Given the description of an element on the screen output the (x, y) to click on. 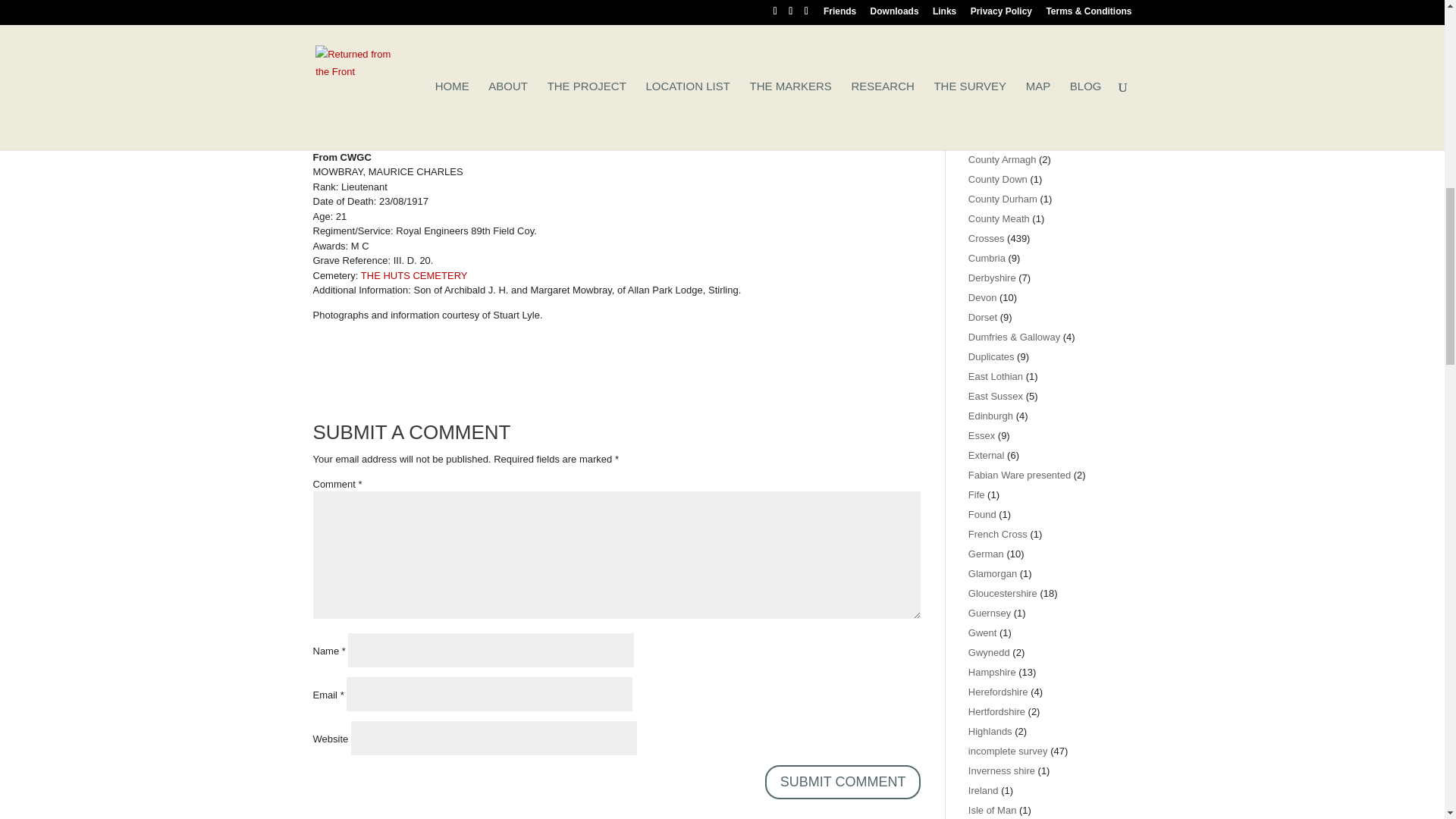
Submit Comment (843, 781)
Submit Comment (843, 781)
THE HUTS CEMETERY (414, 275)
